Given the description of an element on the screen output the (x, y) to click on. 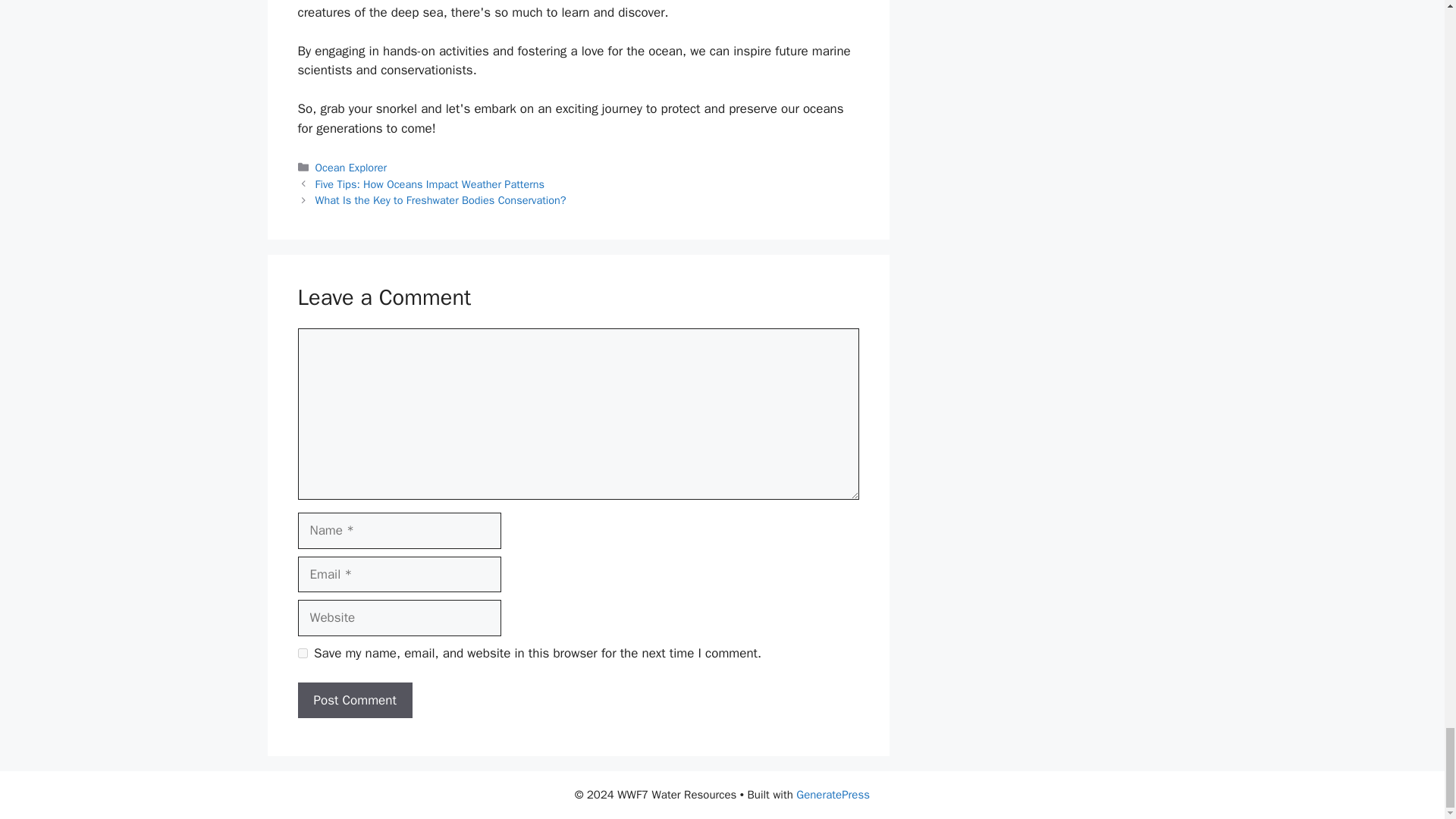
yes (302, 653)
Post Comment (354, 700)
GeneratePress (832, 794)
Post Comment (354, 700)
Ocean Explorer (351, 167)
Next (440, 200)
Previous (429, 183)
Five Tips: How Oceans Impact Weather Patterns (429, 183)
What Is the Key to Freshwater Bodies Conservation? (440, 200)
